Given the description of an element on the screen output the (x, y) to click on. 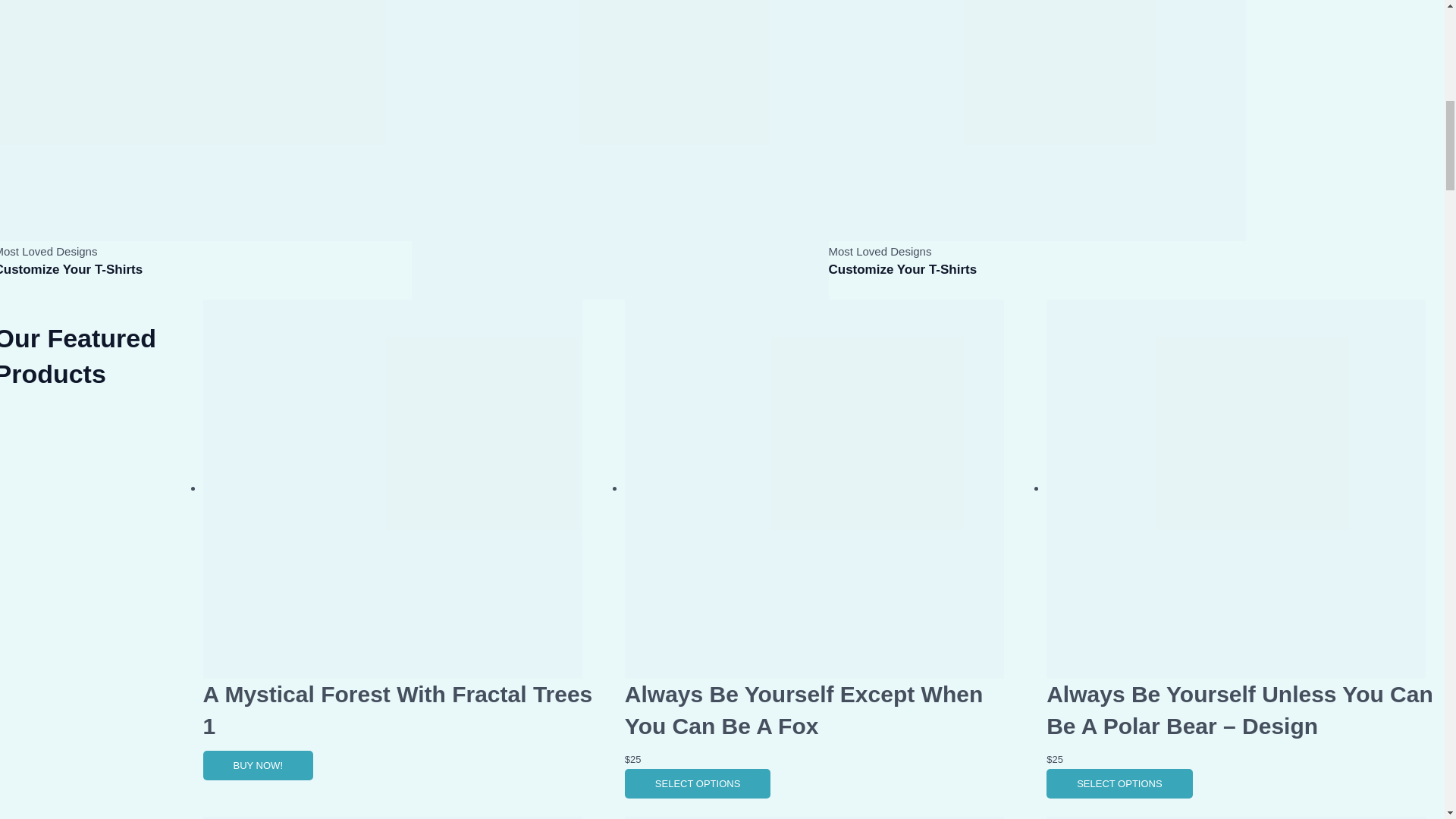
Home 4 (1036, 120)
BUY NOW! (258, 765)
Home 2 (205, 120)
SELECT OPTIONS (1119, 783)
A Mystical Forest With Fractal Trees 1 (397, 709)
Home 3 (619, 149)
SELECT OPTIONS (697, 783)
Always Be Yourself Except When You Can Be A Fox (803, 709)
